Given the description of an element on the screen output the (x, y) to click on. 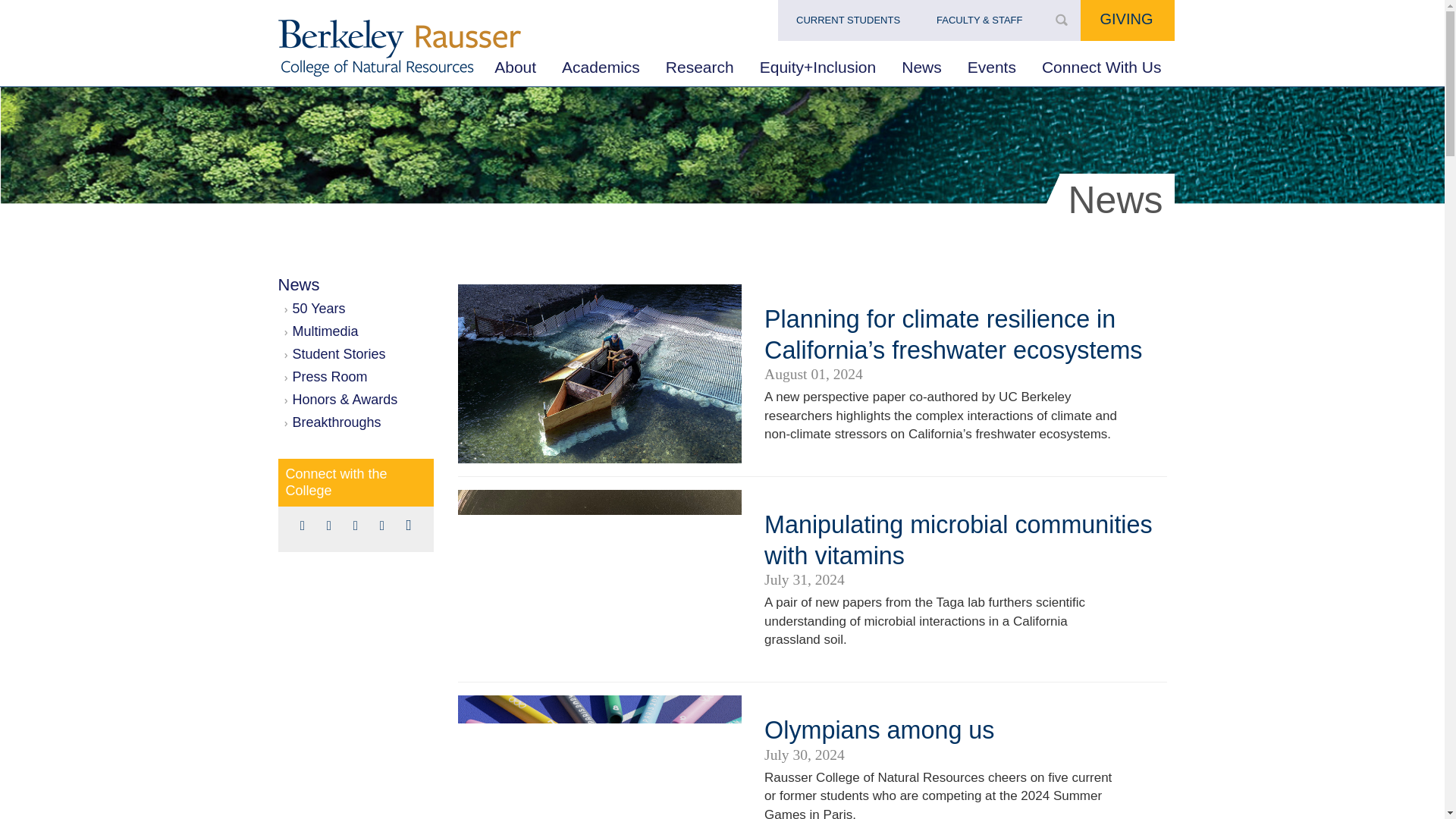
Academics (600, 66)
Manipulating microbial communities with vitamins (958, 539)
GIVING (1126, 20)
News (921, 66)
Research (699, 66)
Home (398, 47)
About (514, 66)
Events (992, 66)
CURRENT STUDENTS (847, 22)
Connect With Us (1101, 66)
RSS (408, 525)
